Given the description of an element on the screen output the (x, y) to click on. 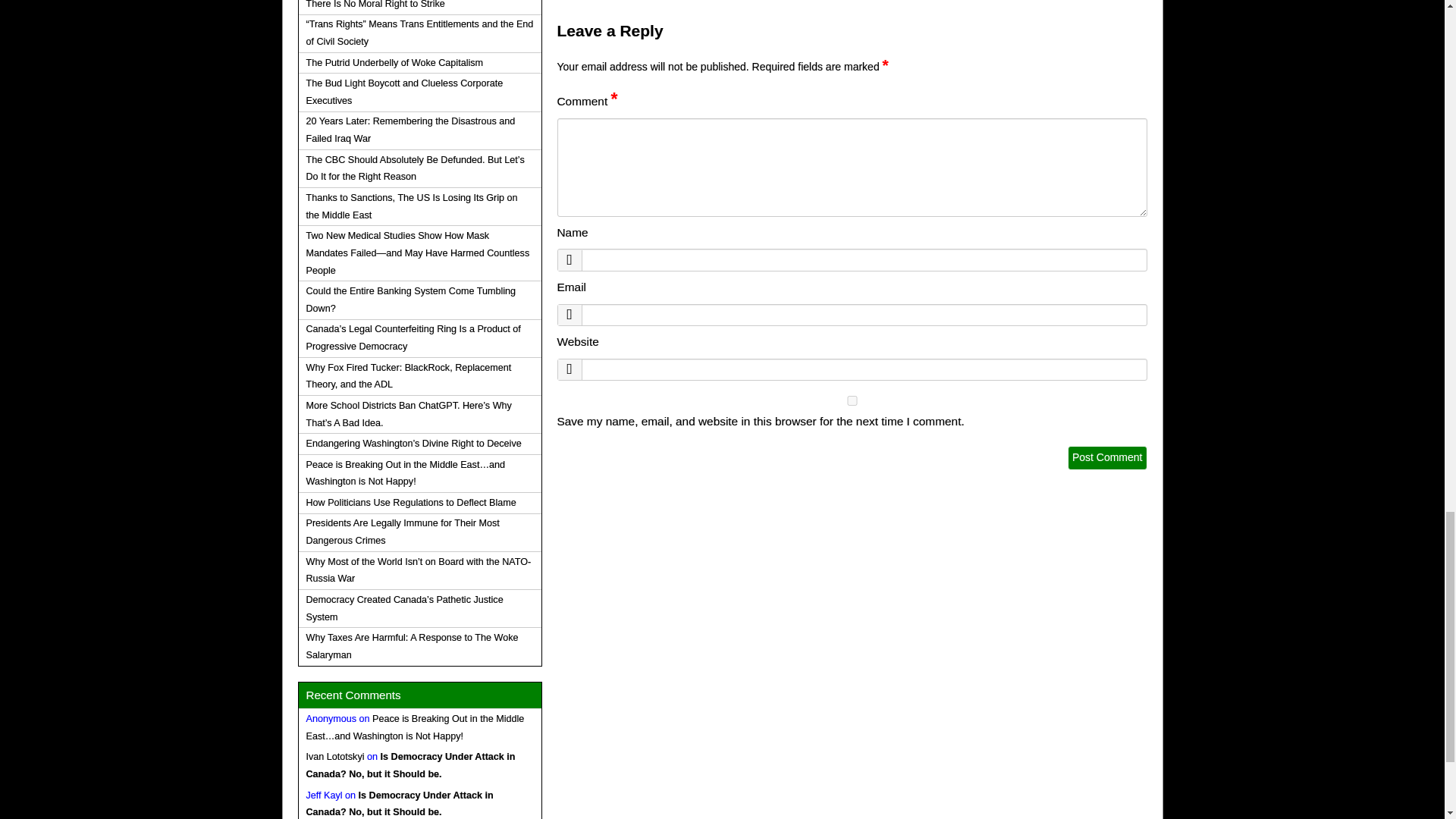
Post Comment (1107, 457)
yes (851, 400)
